Given the description of an element on the screen output the (x, y) to click on. 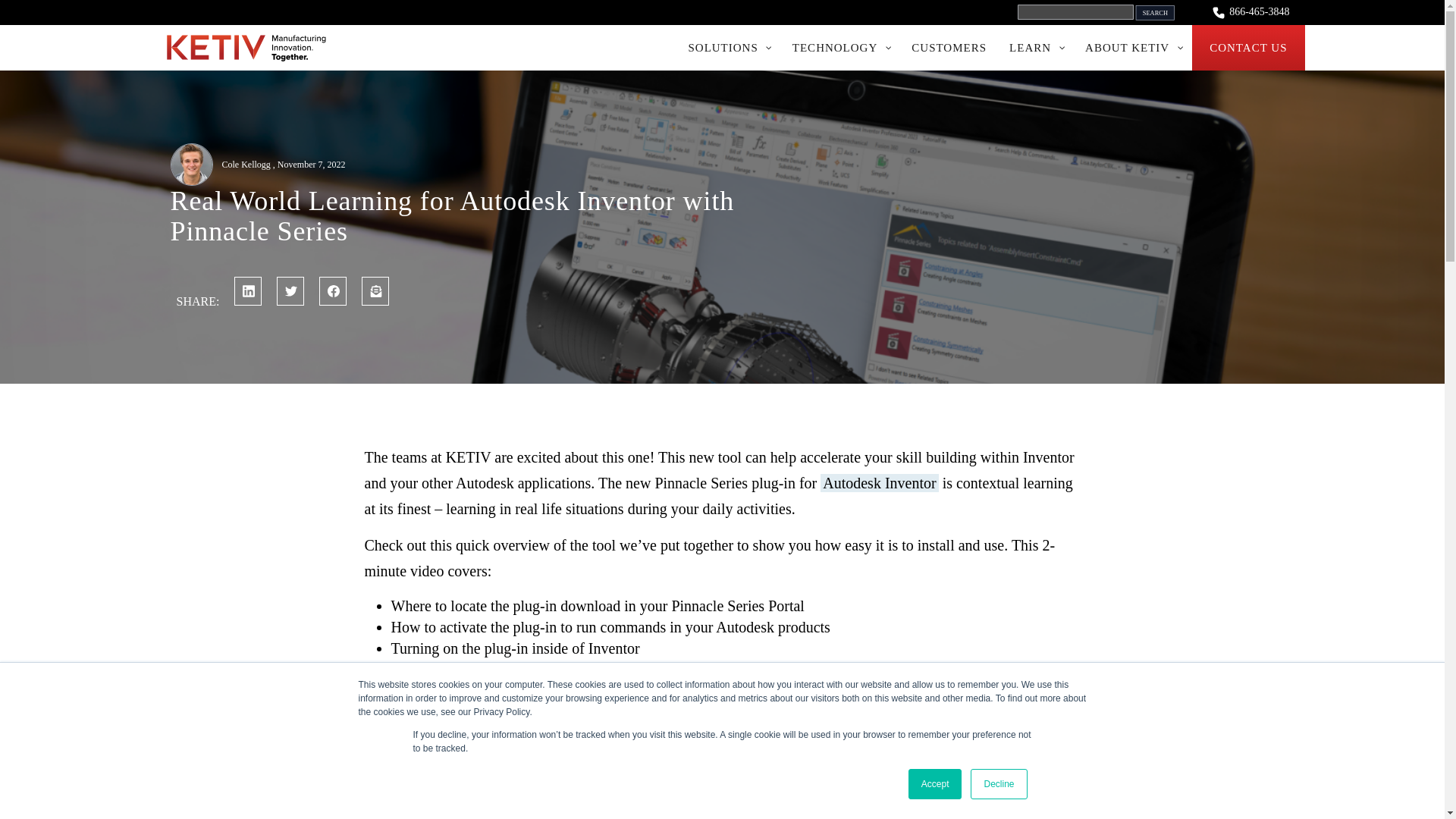
YouTube video player (667, 755)
866-465-3848 (1249, 12)
Search (1163, 15)
Share on Twitter (290, 290)
LEARN (1035, 47)
Decline (998, 784)
Accept (935, 784)
SOLUTIONS (728, 47)
TECHNOLOGY (840, 47)
Search (1163, 15)
CUSTOMERS (948, 47)
Share on LinkedIn (248, 290)
Share on Facebook (332, 290)
Share by Email (374, 290)
